Given the description of an element on the screen output the (x, y) to click on. 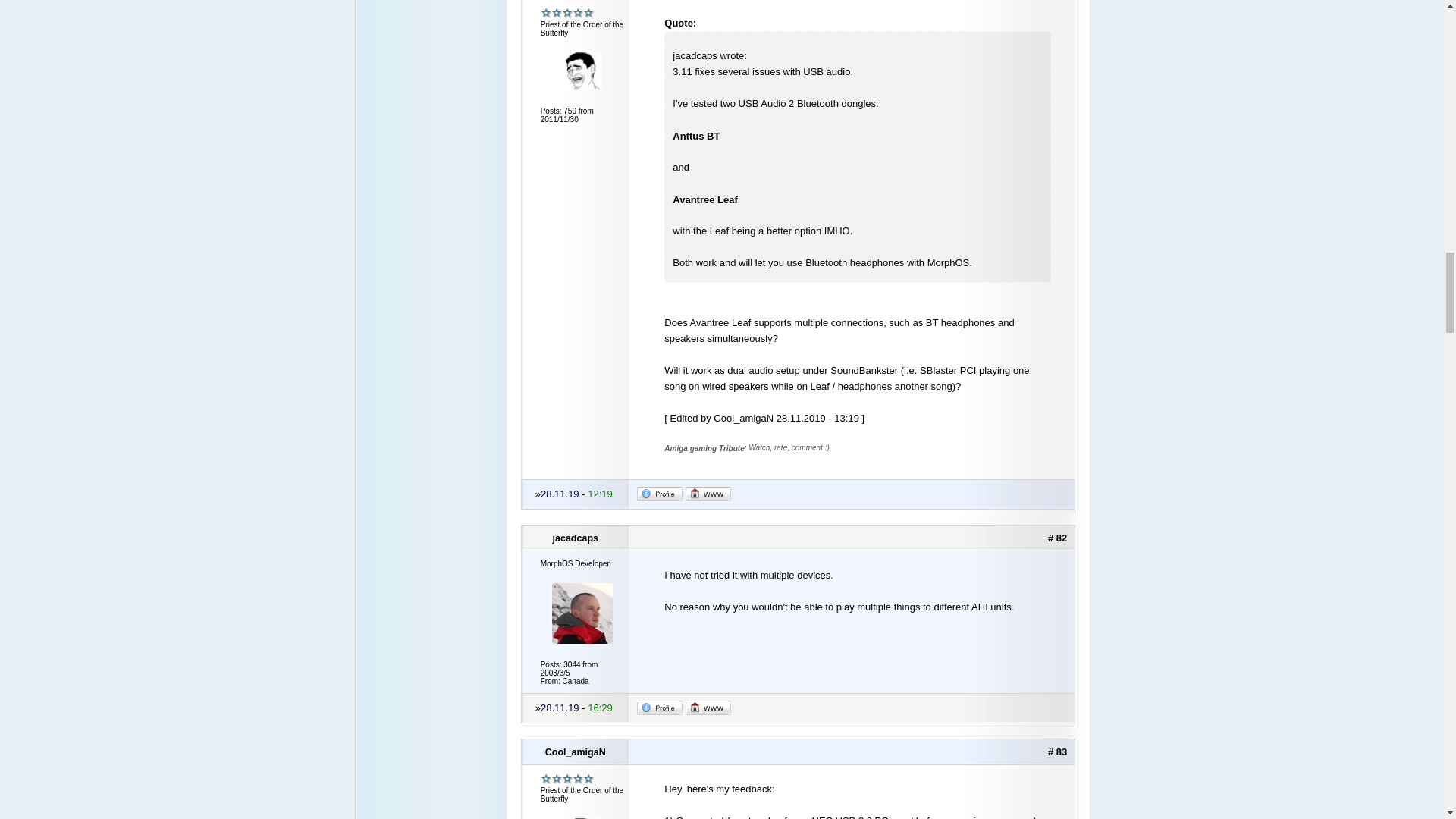
Show alone this post... (1057, 751)
Show alone this post... (1057, 537)
Priest of the Order of the Butterfly (567, 778)
Priest of the Order of the Butterfly (567, 12)
